Given the description of an element on the screen output the (x, y) to click on. 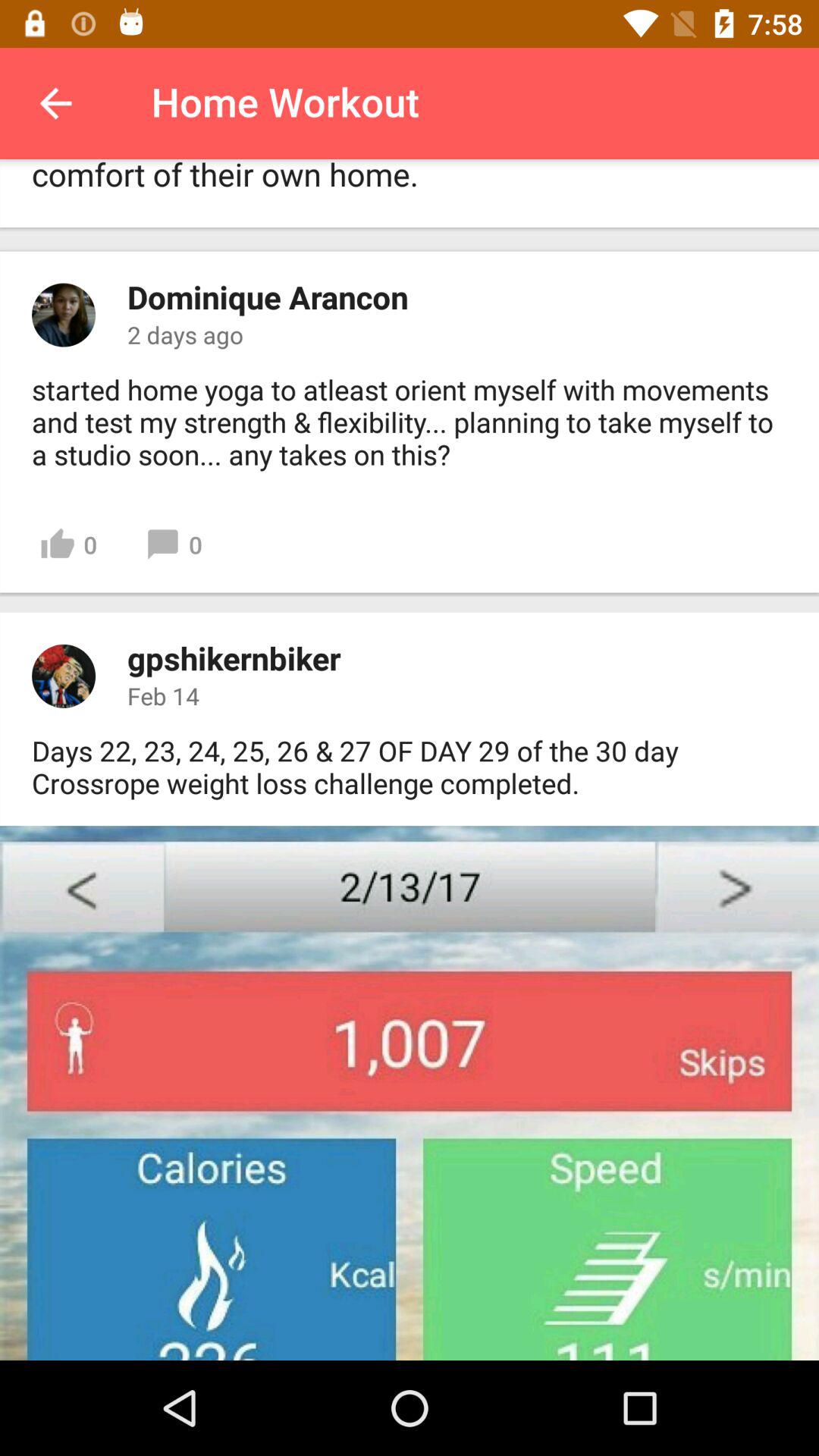
click on the image beside dominique arancon (63, 315)
click on the comments icon above gpshikernbiker (173, 544)
